Given the description of an element on the screen output the (x, y) to click on. 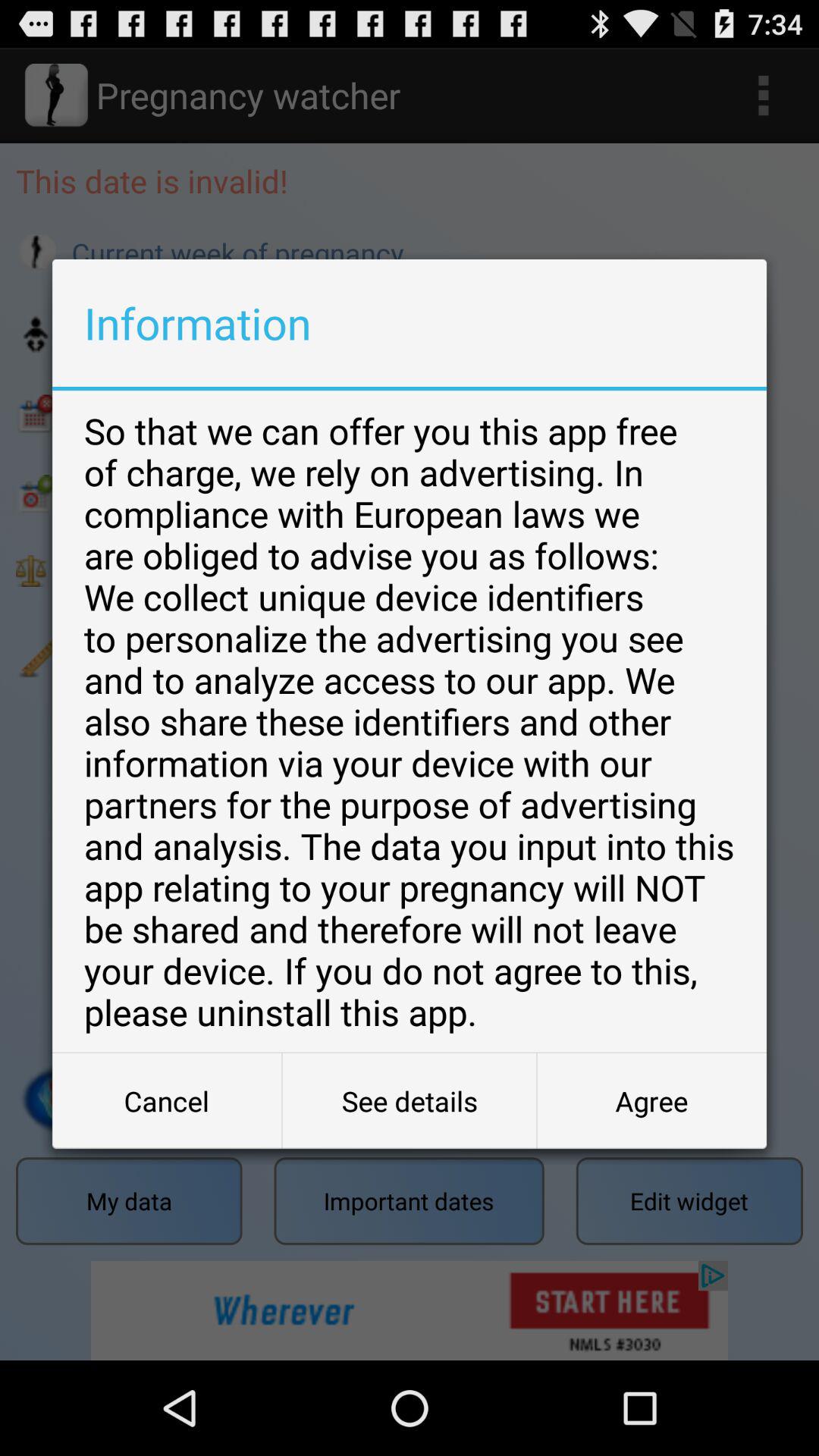
click button next to the agree item (409, 1100)
